Given the description of an element on the screen output the (x, y) to click on. 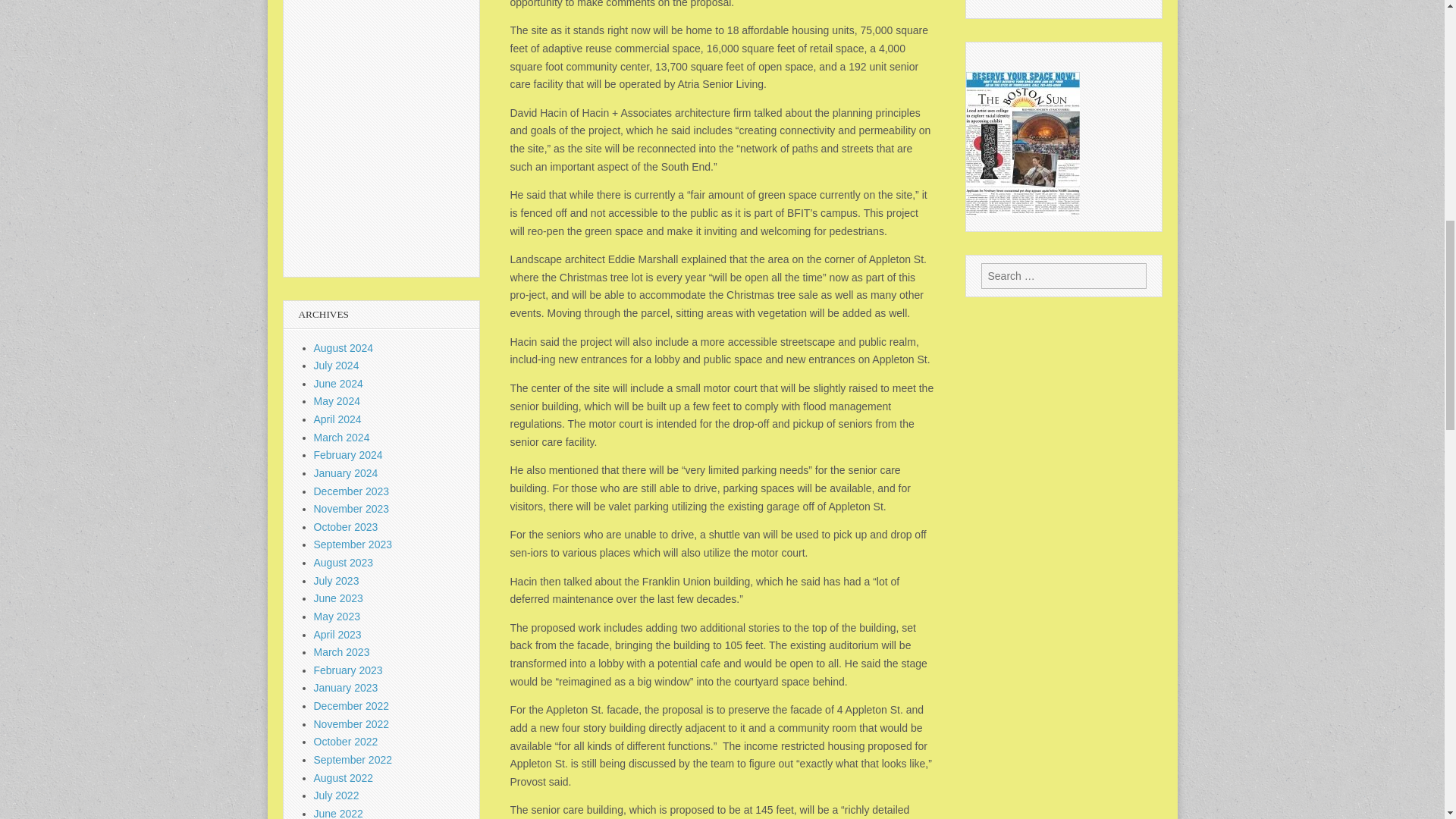
May 2024 (336, 400)
July 2024 (336, 365)
April 2024 (337, 419)
August 2024 (344, 347)
March 2024 (341, 437)
June 2024 (338, 383)
February 2024 (348, 454)
January 2024 (346, 472)
